Given the description of an element on the screen output the (x, y) to click on. 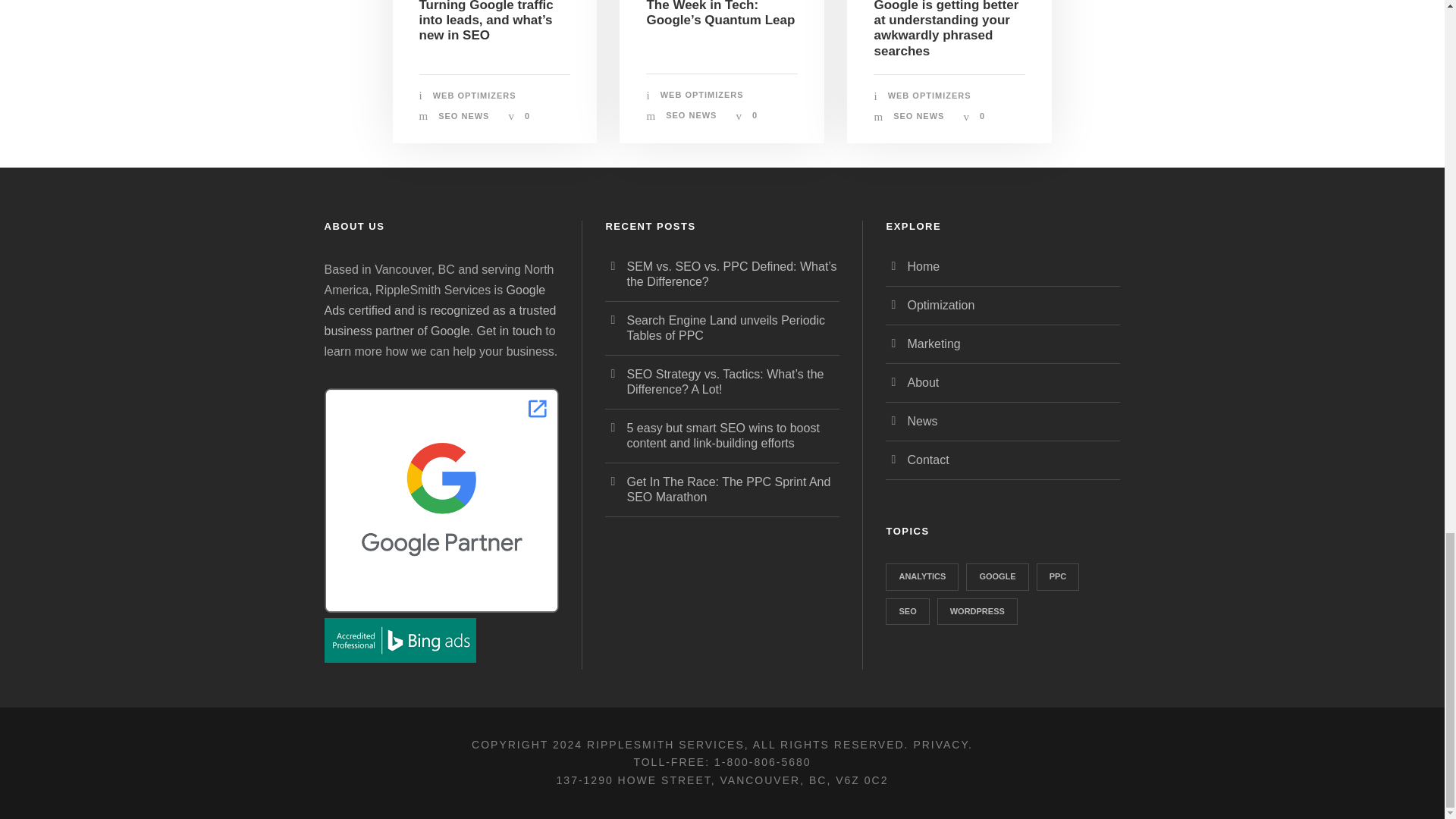
WEB OPTIMIZERS (702, 94)
Posts by Web Optimizers (702, 94)
SEO NEWS (690, 114)
Posts by Web Optimizers (474, 94)
WEB OPTIMIZERS (474, 94)
Posts by Web Optimizers (929, 94)
SEO NEWS (463, 115)
